Given the description of an element on the screen output the (x, y) to click on. 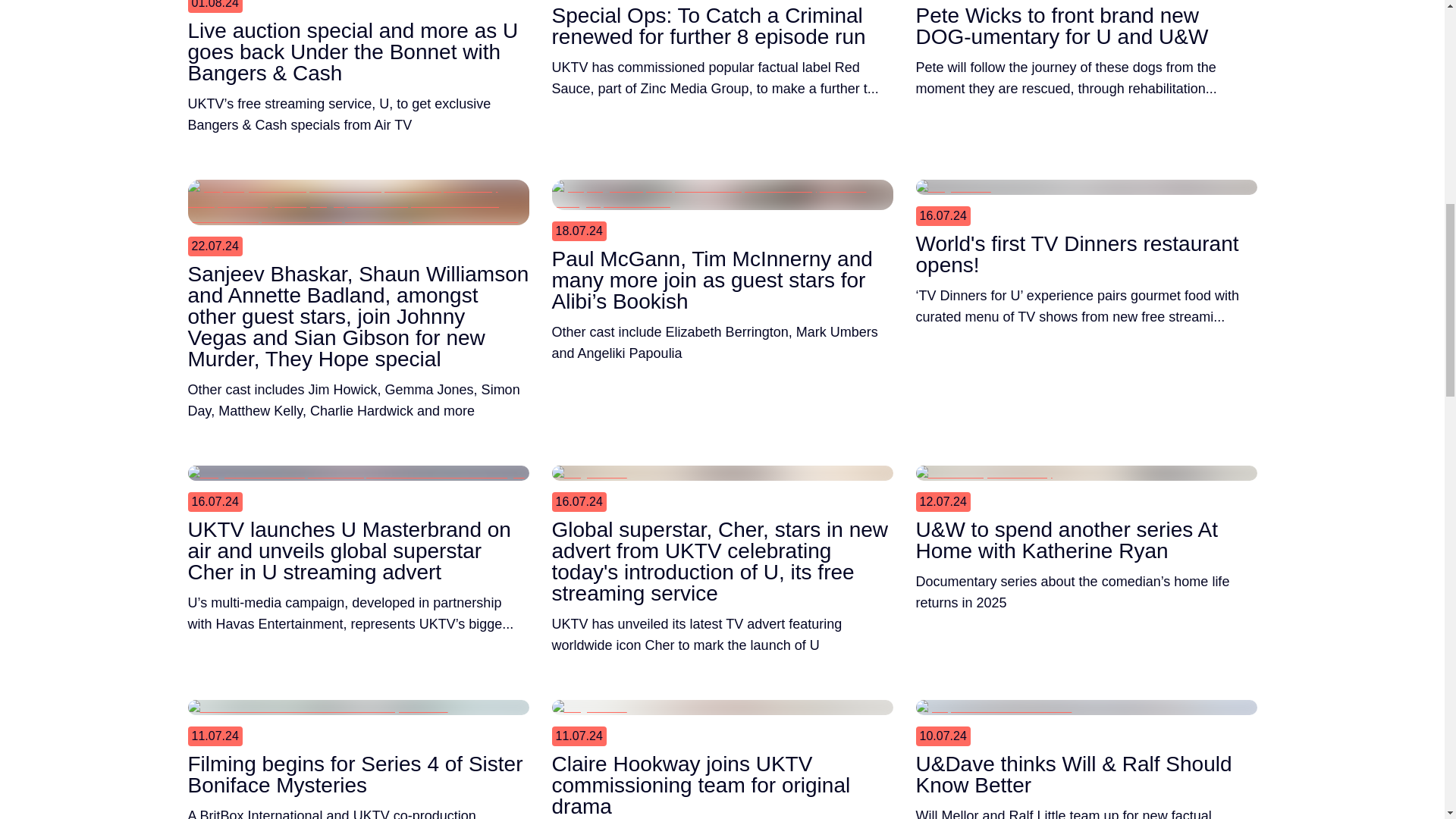
Filming begins for Series 4 of Sister Boniface Mysteries (358, 779)
World's first TV Dinners restaurant opens! (1086, 259)
